Given the description of an element on the screen output the (x, y) to click on. 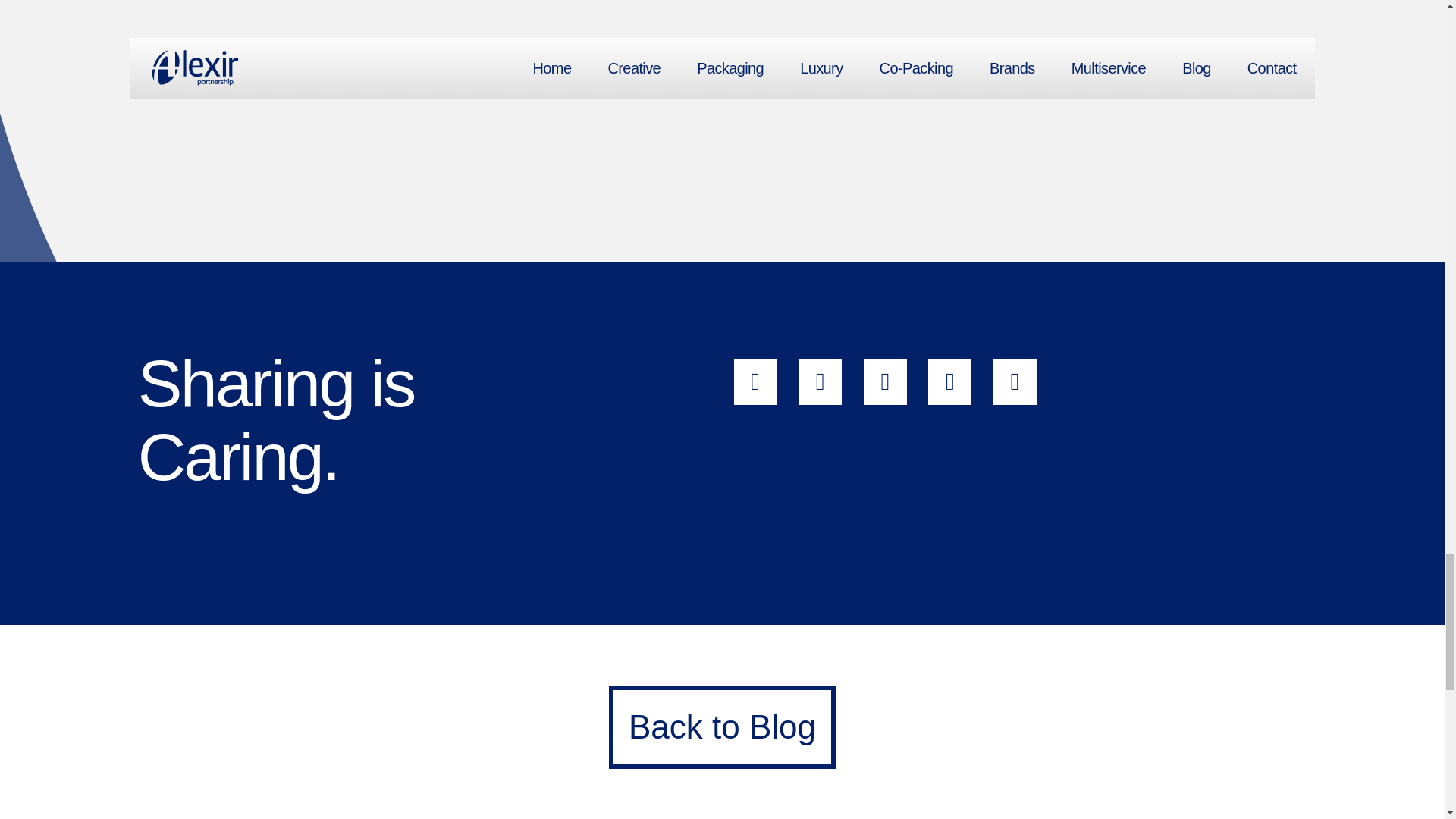
Back to Blog (721, 727)
